Given the description of an element on the screen output the (x, y) to click on. 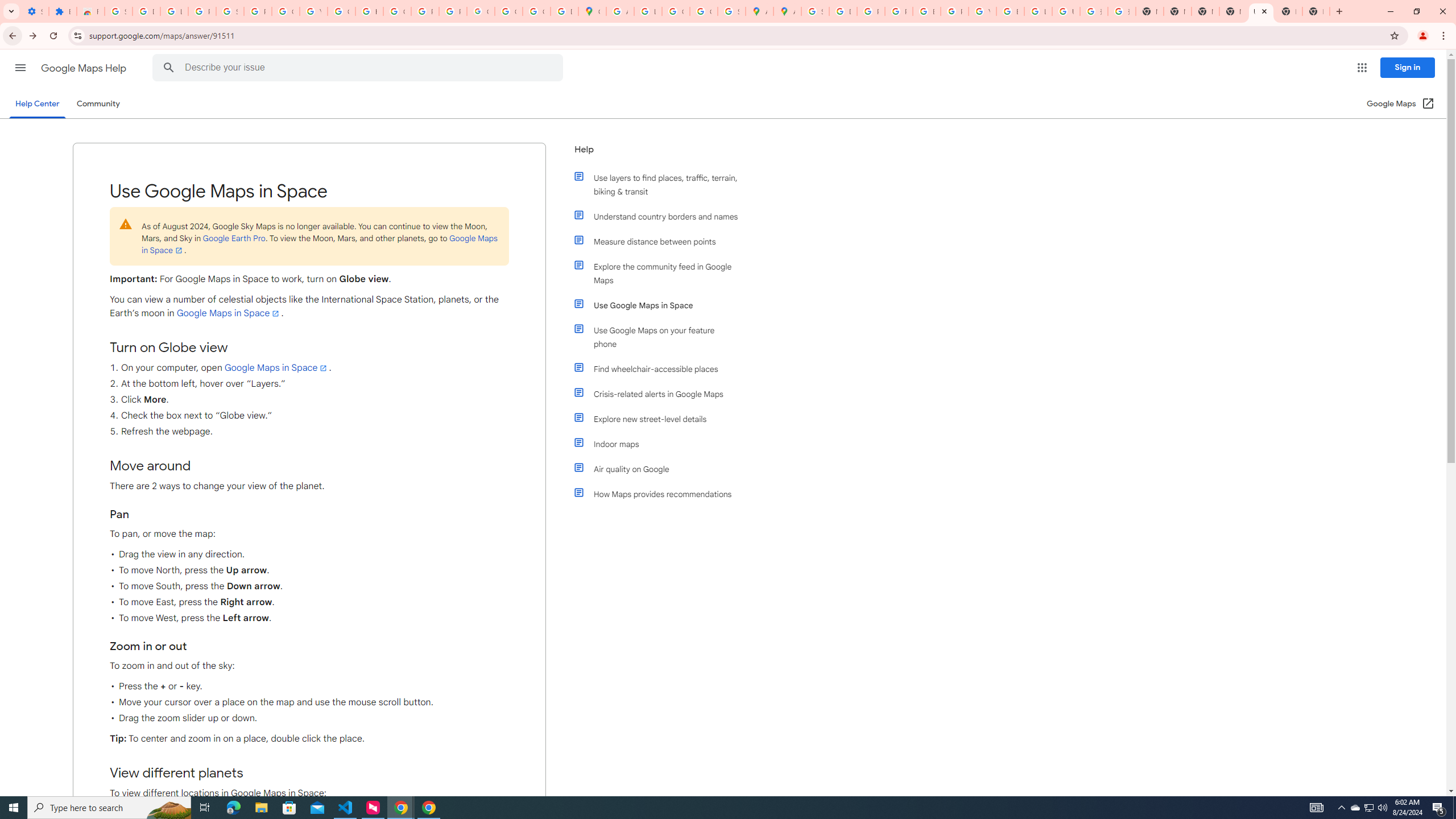
Privacy Help Center - Policies Help (898, 11)
Sign in - Google Accounts (118, 11)
Air quality on Google (661, 469)
Google Maps (592, 11)
Find wheelchair-accessible places (661, 368)
Measure distance between points (661, 241)
